Given the description of an element on the screen output the (x, y) to click on. 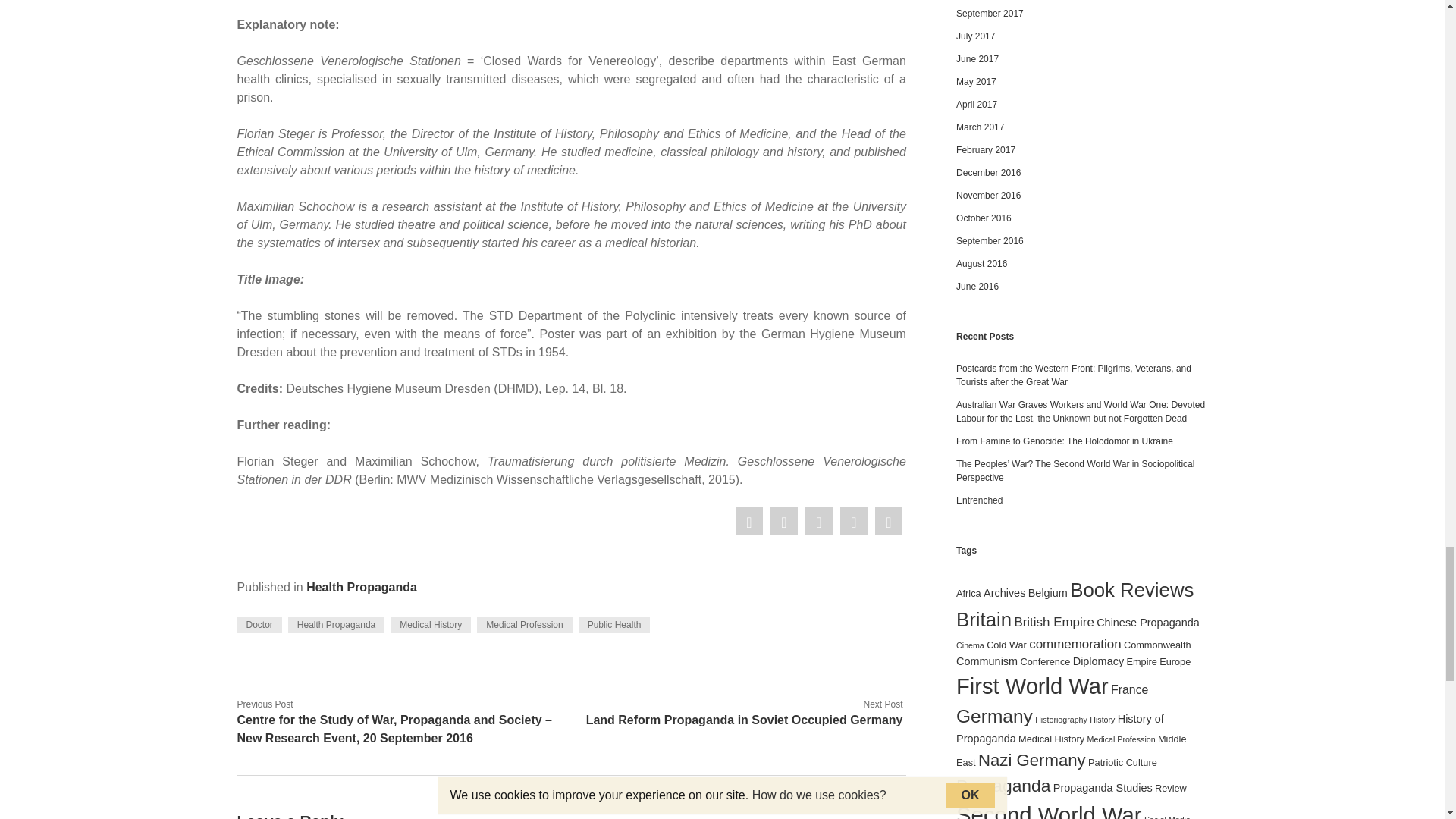
Public Health (614, 624)
View all posts tagged Medical History (430, 624)
Share via Linked In (853, 521)
Medical History (430, 624)
Doctor (258, 624)
Land Reform Propaganda in Soviet Occupied Germany (744, 719)
View all posts tagged Doctor (258, 624)
View all posts in Health Propaganda (360, 586)
Share via Facebook (748, 521)
View all posts tagged Health Propaganda (336, 624)
Share via Twitter (783, 521)
Medical Profession (524, 624)
View all posts tagged Medical Profession (524, 624)
Health Propaganda (360, 586)
Share via Google Plus (818, 521)
